Given the description of an element on the screen output the (x, y) to click on. 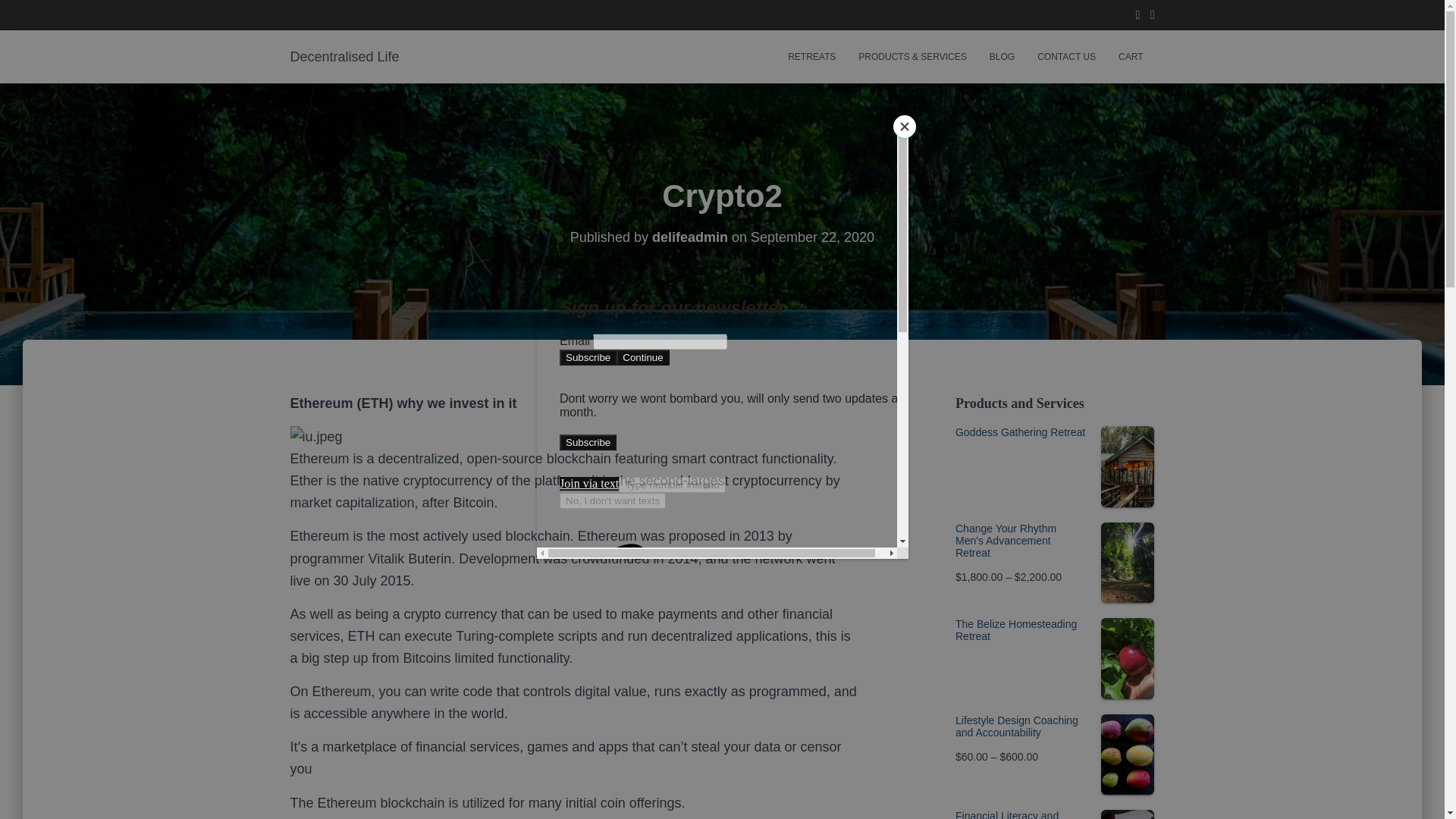
CONTACT US (1066, 56)
The Belize Homesteading Retreat (1054, 630)
Change Your Rhythm Men's Advancement Retreat (1054, 540)
Cart (1130, 56)
Retreats (811, 56)
Decentralised Life (344, 56)
Contact Us (1066, 56)
Lifestyle Design Coaching and Accountability (1054, 726)
BLOG (1002, 56)
Blog (1002, 56)
